Given the description of an element on the screen output the (x, y) to click on. 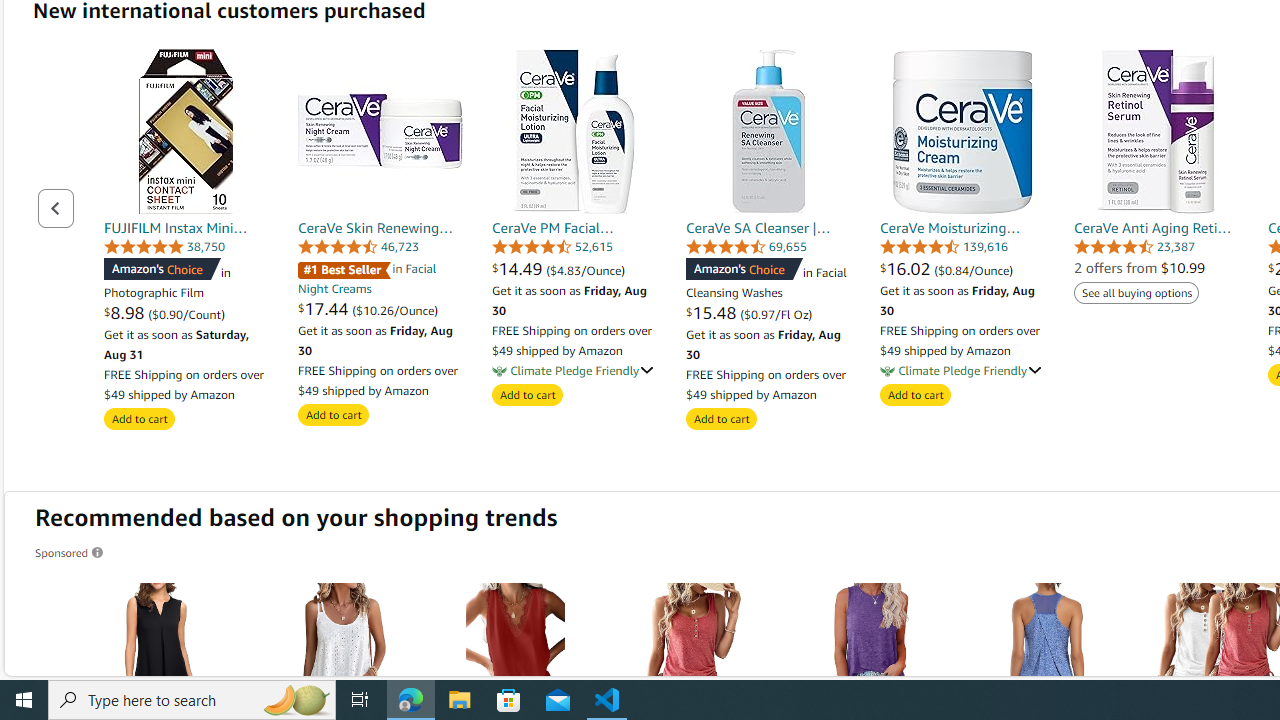
See all buying options (1137, 292)
($0.84/Ounce) (973, 269)
$14.49  (518, 268)
Climate Pledge Friendly (887, 370)
$8.98  (125, 312)
Class: a-link-normal (1156, 228)
($10.26/Ounce) (395, 309)
($0.90/Count) (186, 314)
